Given the description of an element on the screen output the (x, y) to click on. 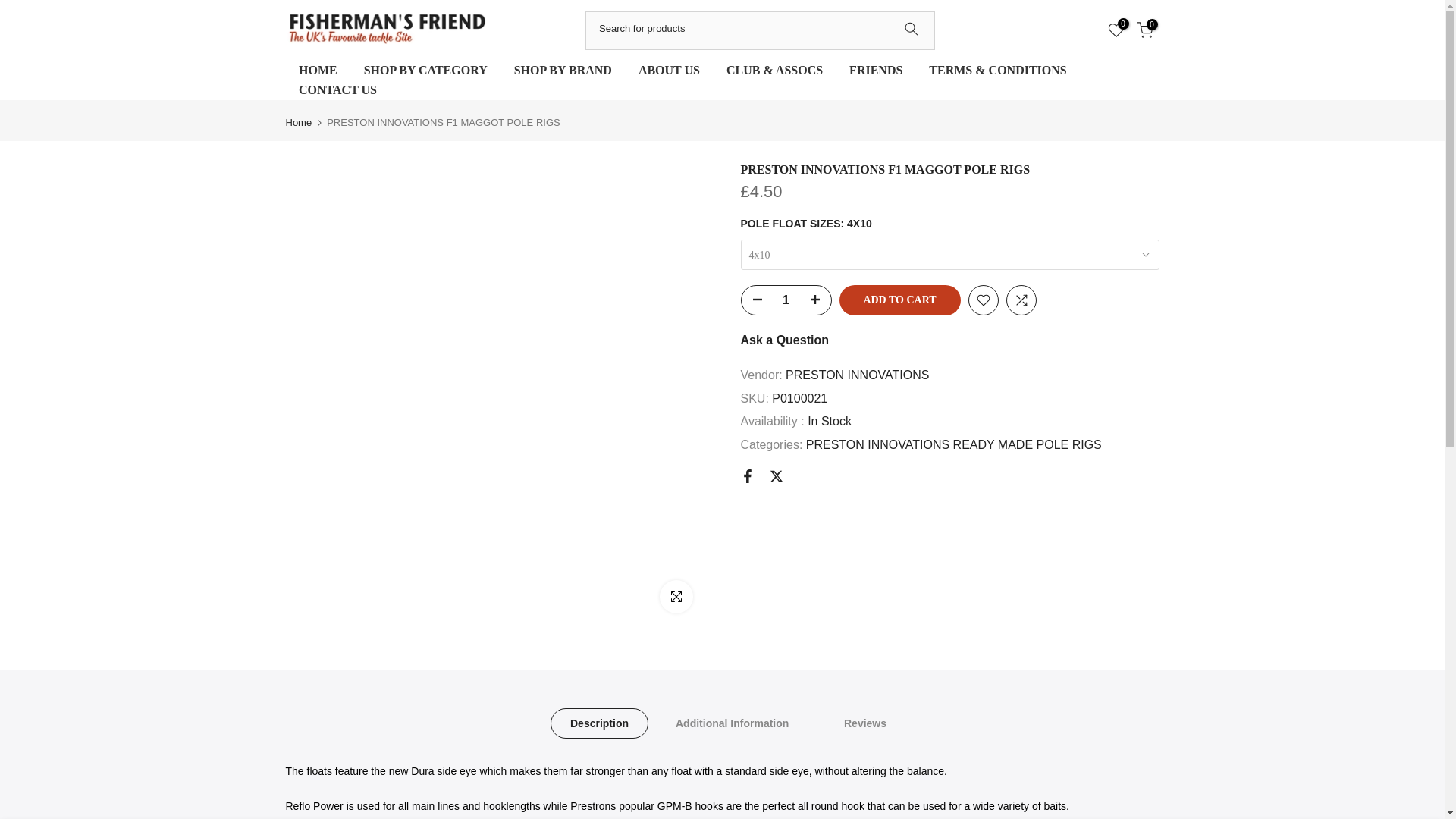
Skip to content (10, 7)
Share on Facebook (746, 476)
SHOP BY BRAND (562, 70)
ADD TO CART (898, 300)
Ask a Question (783, 339)
CONTACT US (337, 89)
0 (1115, 30)
PRESTON INNOVATIONS (857, 374)
HOME (317, 70)
1 (786, 299)
